Given the description of an element on the screen output the (x, y) to click on. 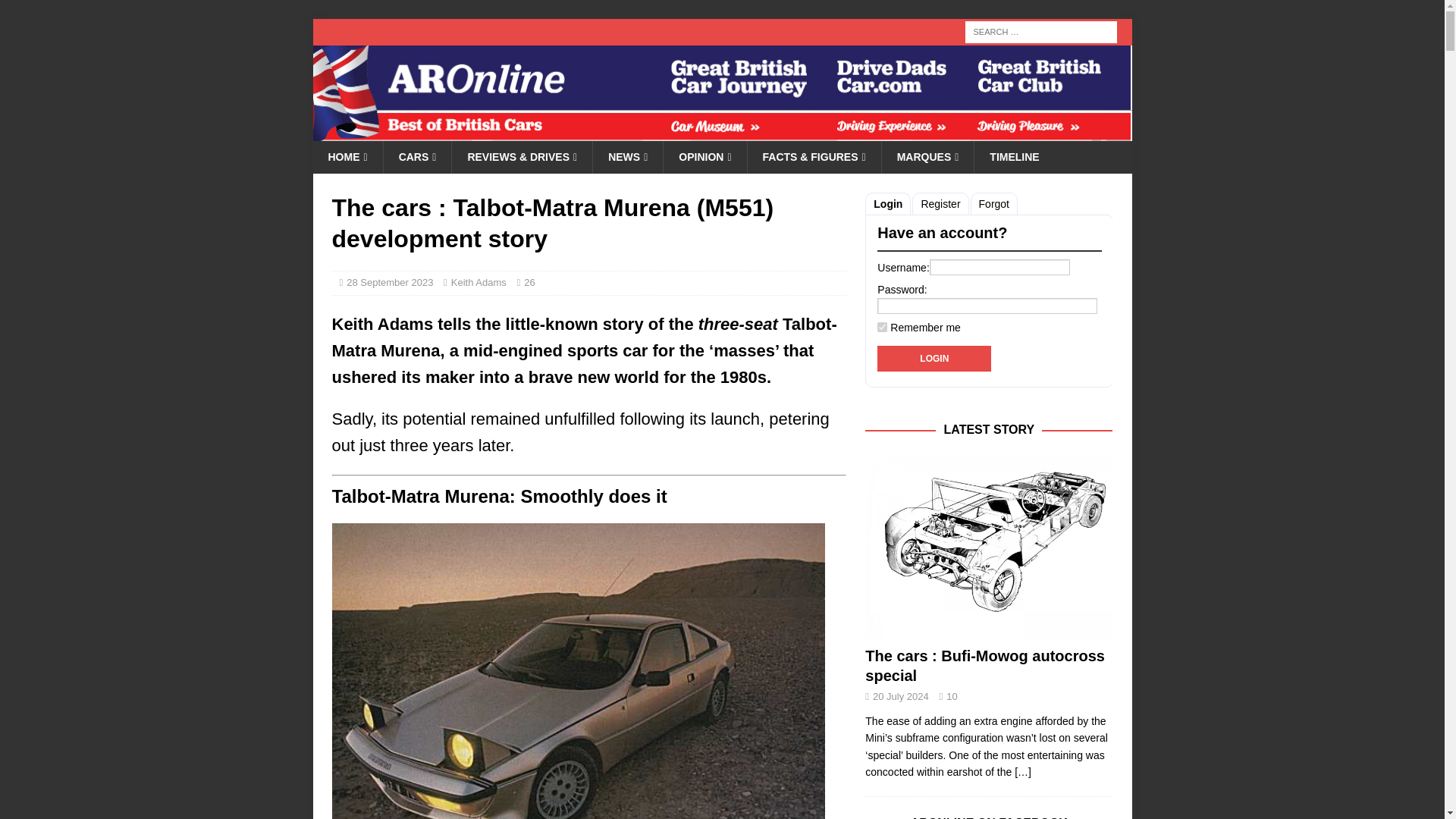
Login (934, 358)
Search (56, 11)
forever (881, 327)
AROnline (722, 132)
AROnline model histories (416, 156)
